Given the description of an element on the screen output the (x, y) to click on. 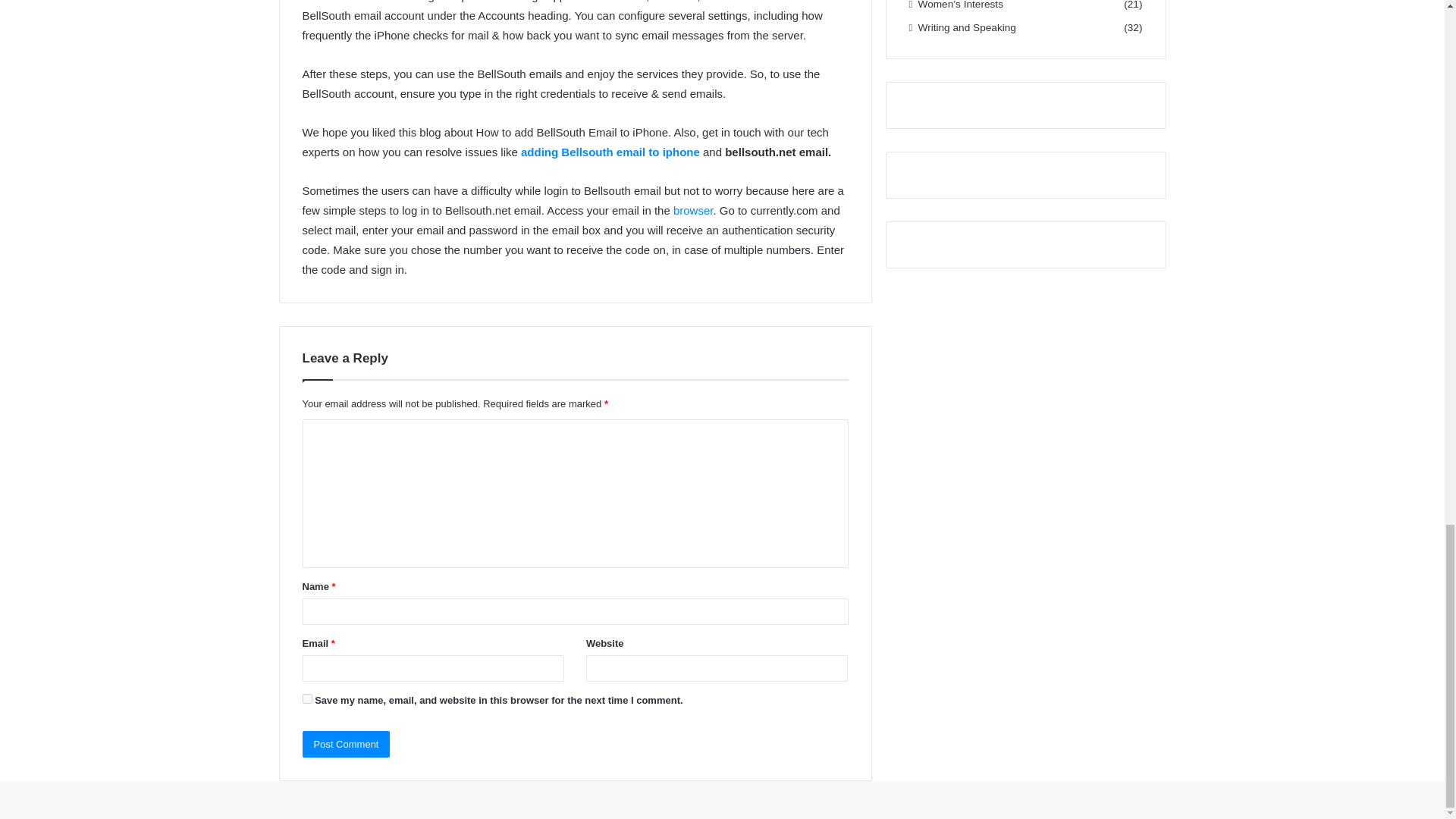
adding Bellsouth email to iphone (609, 151)
Post Comment (345, 744)
Post Comment (345, 744)
yes (306, 698)
browser (692, 210)
